Given the description of an element on the screen output the (x, y) to click on. 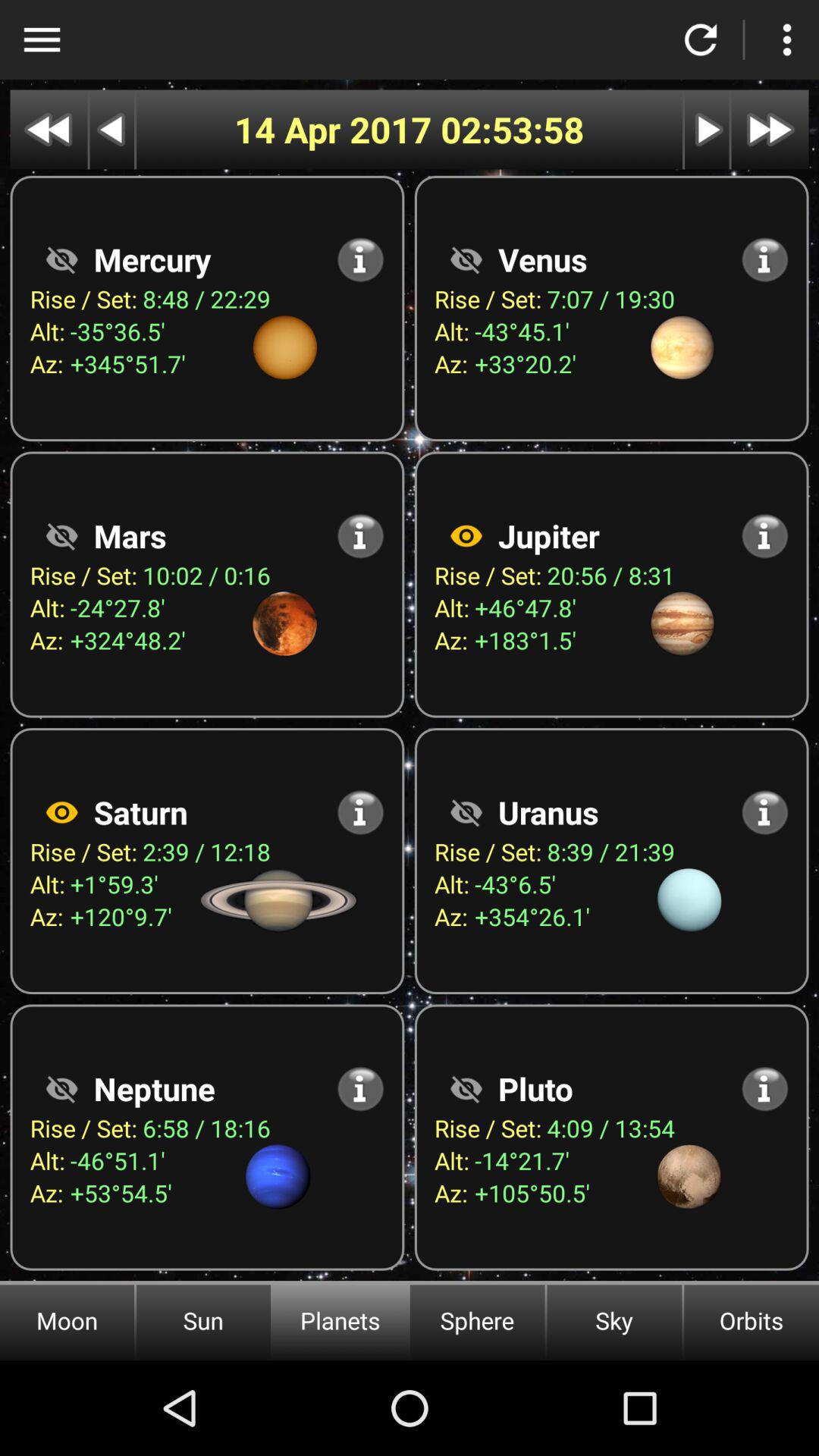
additional information (764, 1088)
